Given the description of an element on the screen output the (x, y) to click on. 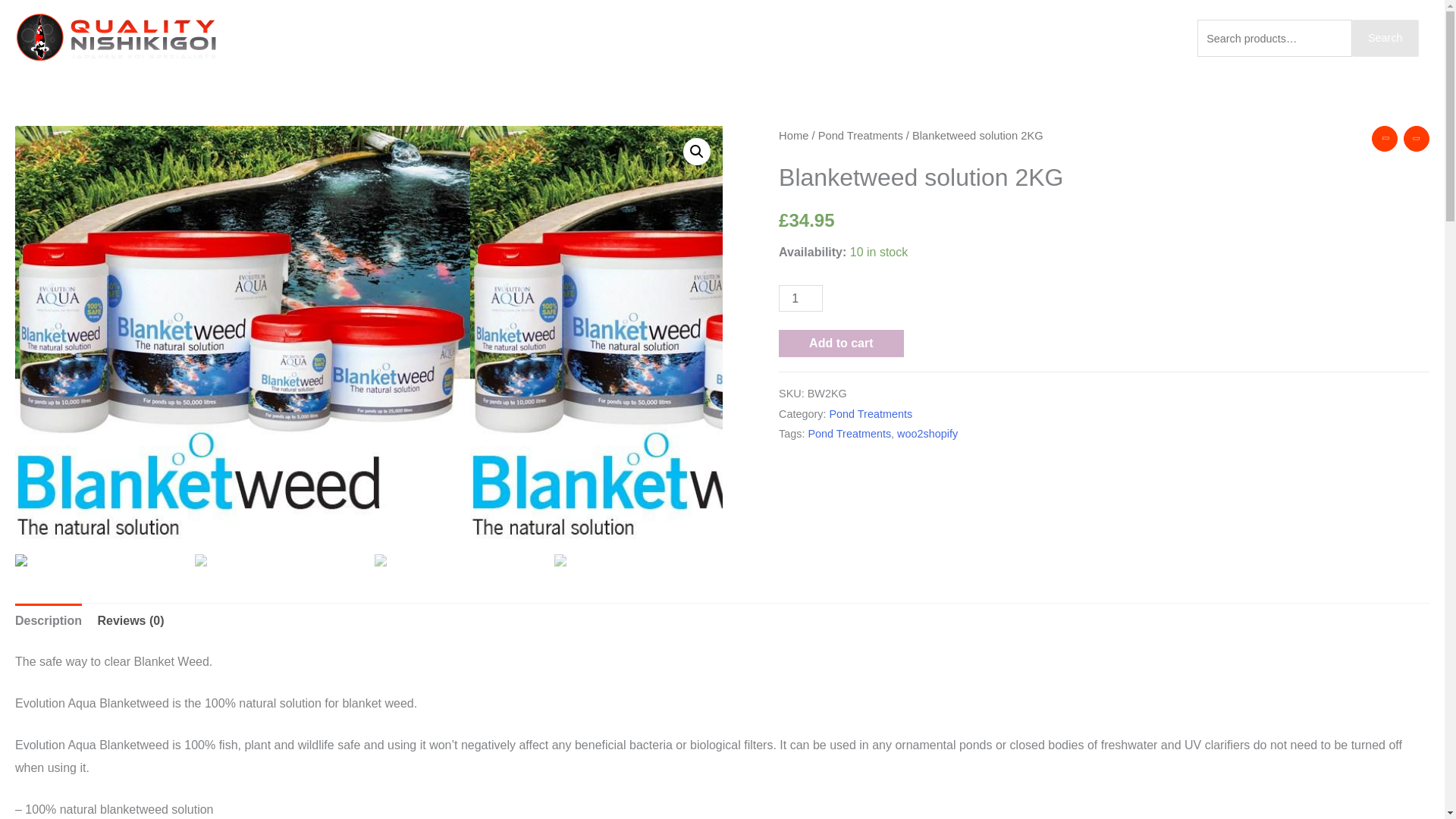
1 (800, 298)
SHOP (922, 38)
HOME (749, 38)
Qty (800, 298)
OUR SERVICES (834, 38)
BLOG (984, 38)
